Given the description of an element on the screen output the (x, y) to click on. 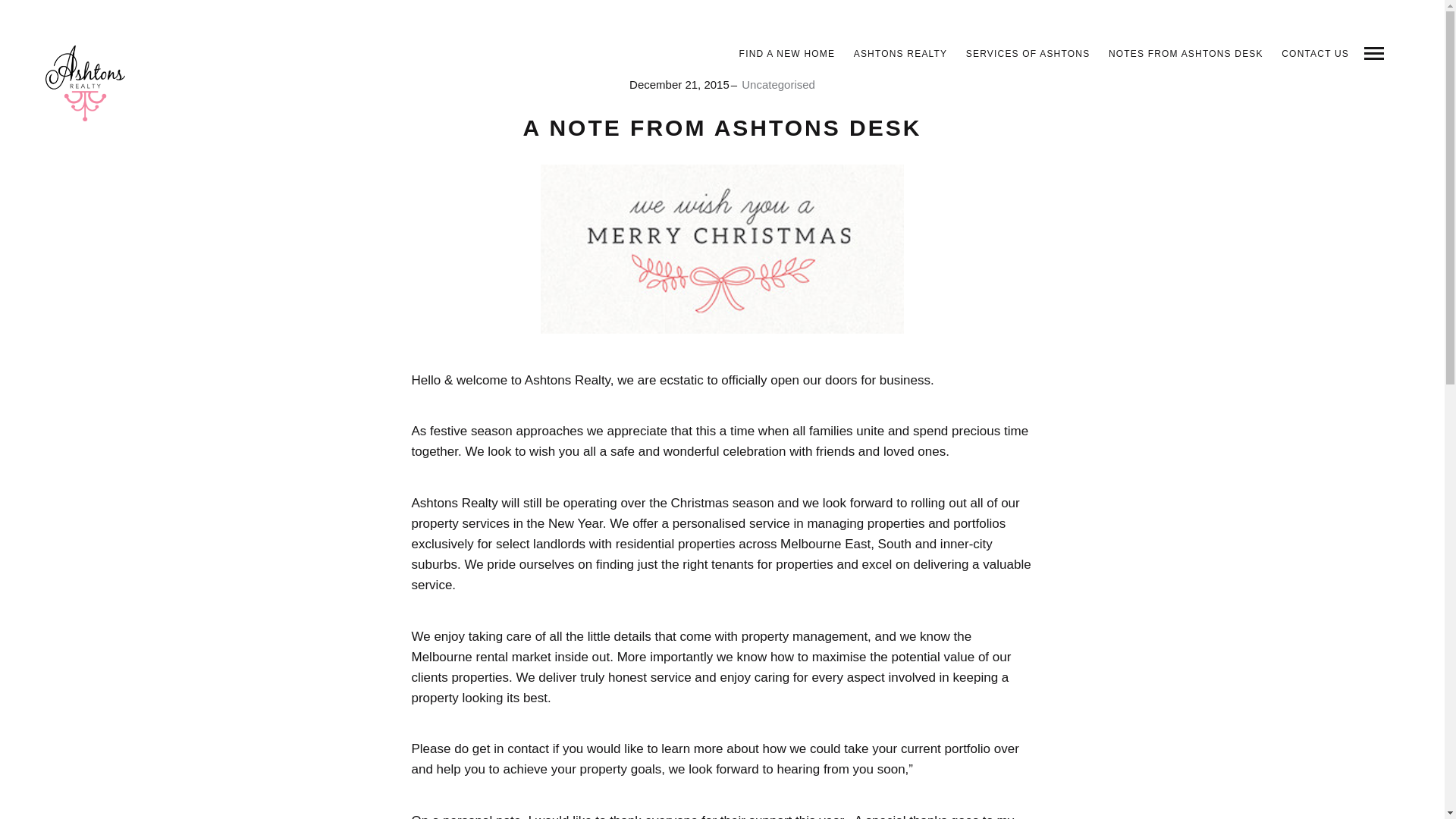
NOTES FROM ASHTONS DESK (1185, 53)
CONTACT US (1315, 53)
Uncategorised (778, 83)
Ashtons Realty (85, 83)
SERVICES OF ASHTONS (1027, 53)
ASHTONS REALTY (900, 53)
FIND A NEW HOME (787, 53)
